Given the description of an element on the screen output the (x, y) to click on. 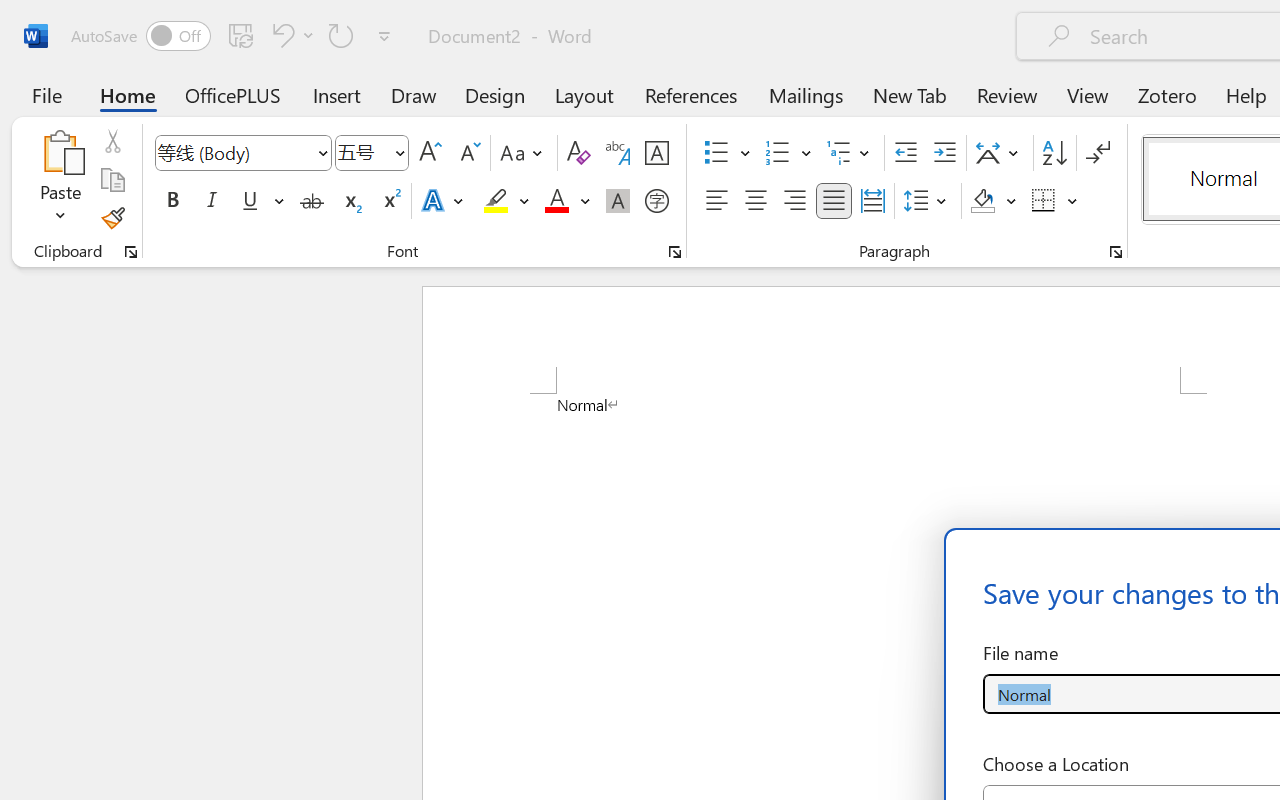
Distributed (872, 201)
Mailings (806, 94)
Layout (584, 94)
Bullets (727, 153)
Decrease Indent (906, 153)
Change Case (524, 153)
Undo Apply Quick Style (280, 35)
Format Painter (112, 218)
Quick Access Toolbar (233, 36)
Paste (60, 179)
Increase Indent (944, 153)
Office Clipboard... (131, 252)
References (690, 94)
Text Highlight Color Yellow (495, 201)
AutoSave (140, 35)
